Given the description of an element on the screen output the (x, y) to click on. 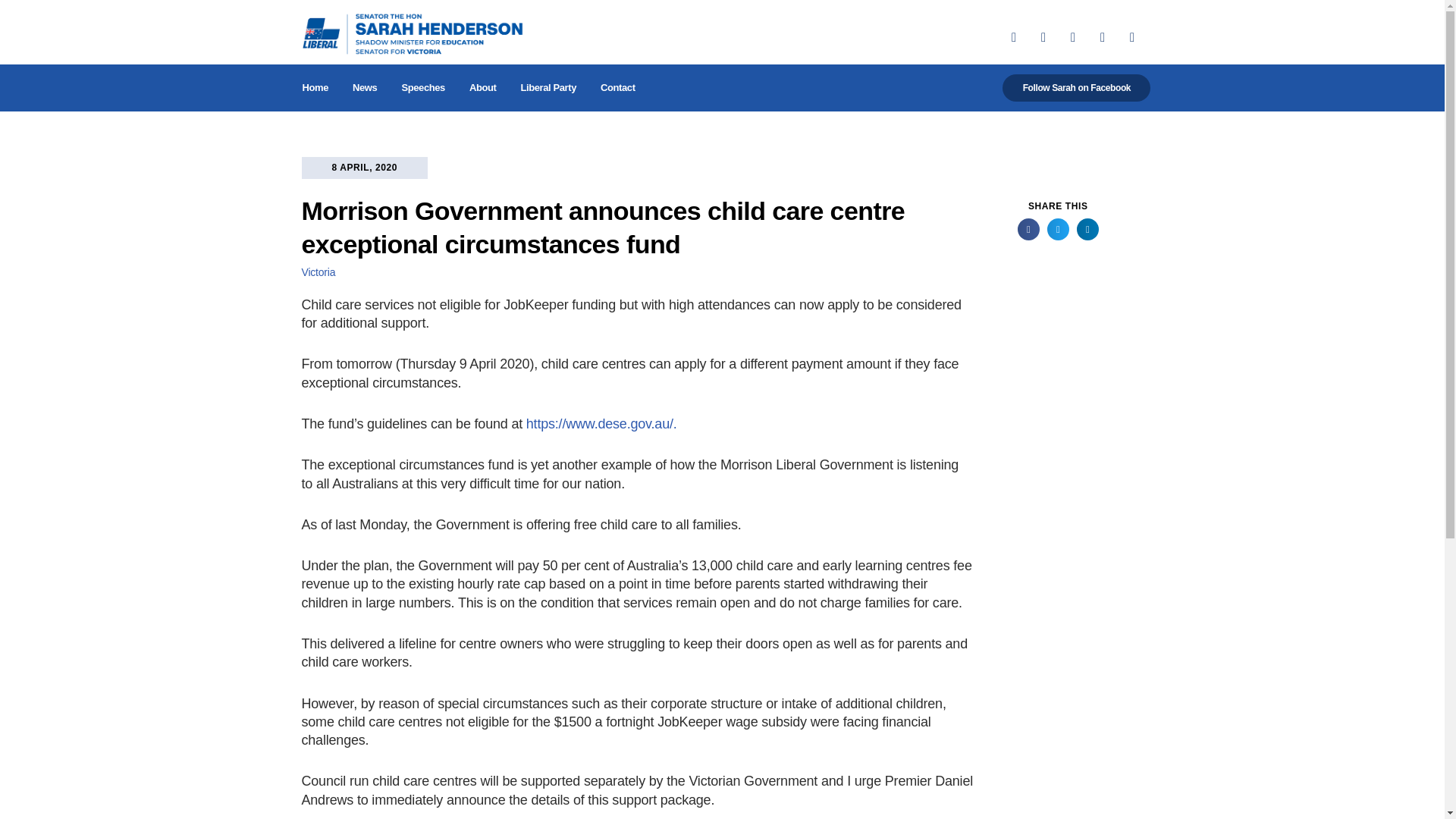
Liberal Party (548, 87)
News (364, 87)
Skip to content (11, 31)
Speeches (422, 87)
About (482, 87)
Contact (617, 87)
Home (314, 87)
